Given the description of an element on the screen output the (x, y) to click on. 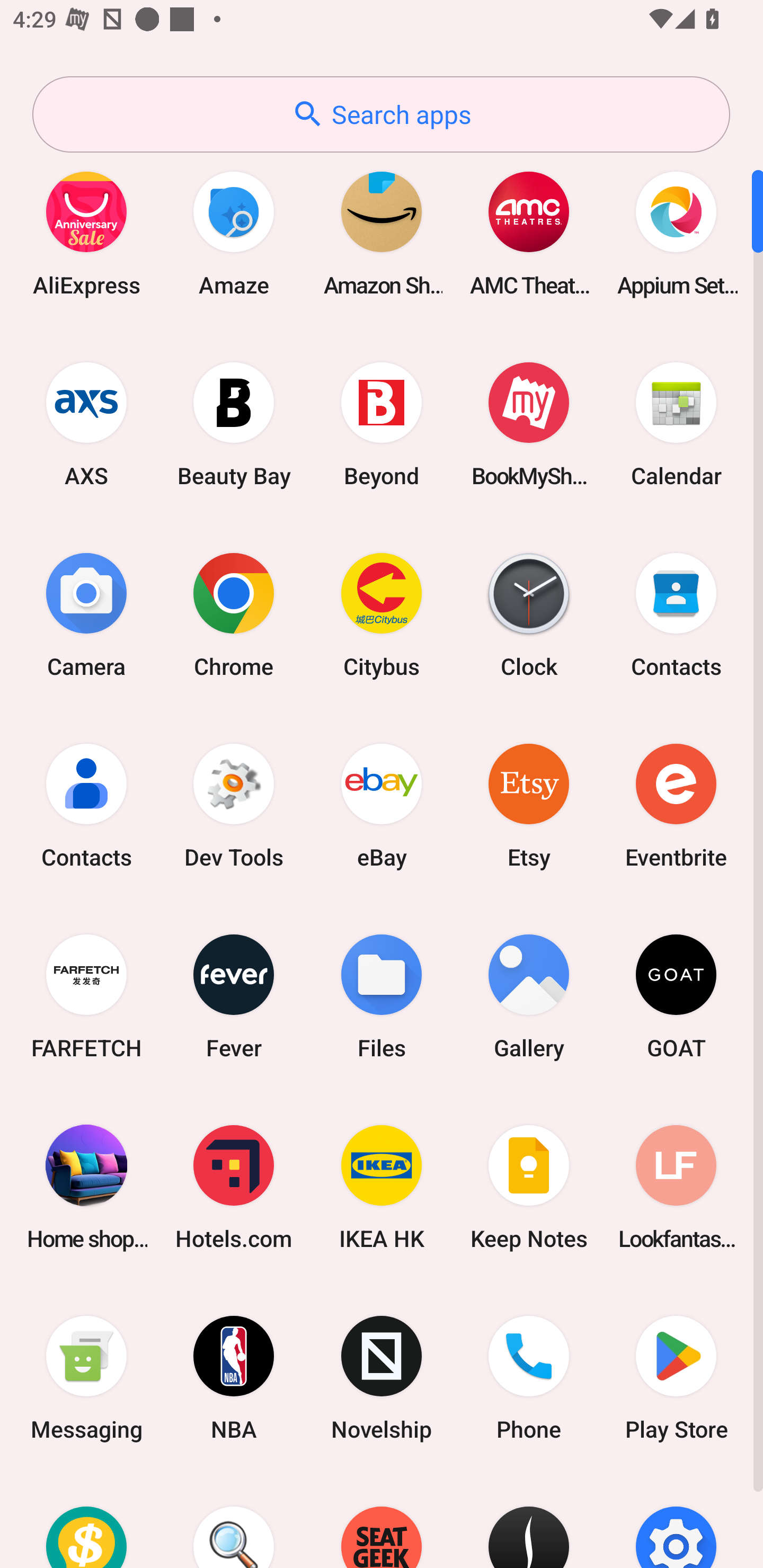
  Search apps (381, 114)
AliExpress (86, 233)
Amaze (233, 233)
Amazon Shopping (381, 233)
AMC Theatres (528, 233)
Appium Settings (676, 233)
AXS (86, 424)
Beauty Bay (233, 424)
Beyond (381, 424)
BookMyShow (528, 424)
Calendar (676, 424)
Camera (86, 614)
Chrome (233, 614)
Citybus (381, 614)
Clock (528, 614)
Contacts (676, 614)
Contacts (86, 805)
Dev Tools (233, 805)
eBay (381, 805)
Etsy (528, 805)
Eventbrite (676, 805)
FARFETCH (86, 996)
Fever (233, 996)
Files (381, 996)
Gallery (528, 996)
GOAT (676, 996)
Home shopping (86, 1186)
Hotels.com (233, 1186)
IKEA HK (381, 1186)
Keep Notes (528, 1186)
Lookfantastic (676, 1186)
Messaging (86, 1377)
NBA (233, 1377)
Novelship (381, 1377)
Phone (528, 1377)
Play Store (676, 1377)
Price (86, 1520)
Search (233, 1520)
SeatGeek (381, 1520)
Sephora (528, 1520)
Settings (676, 1520)
